Given the description of an element on the screen output the (x, y) to click on. 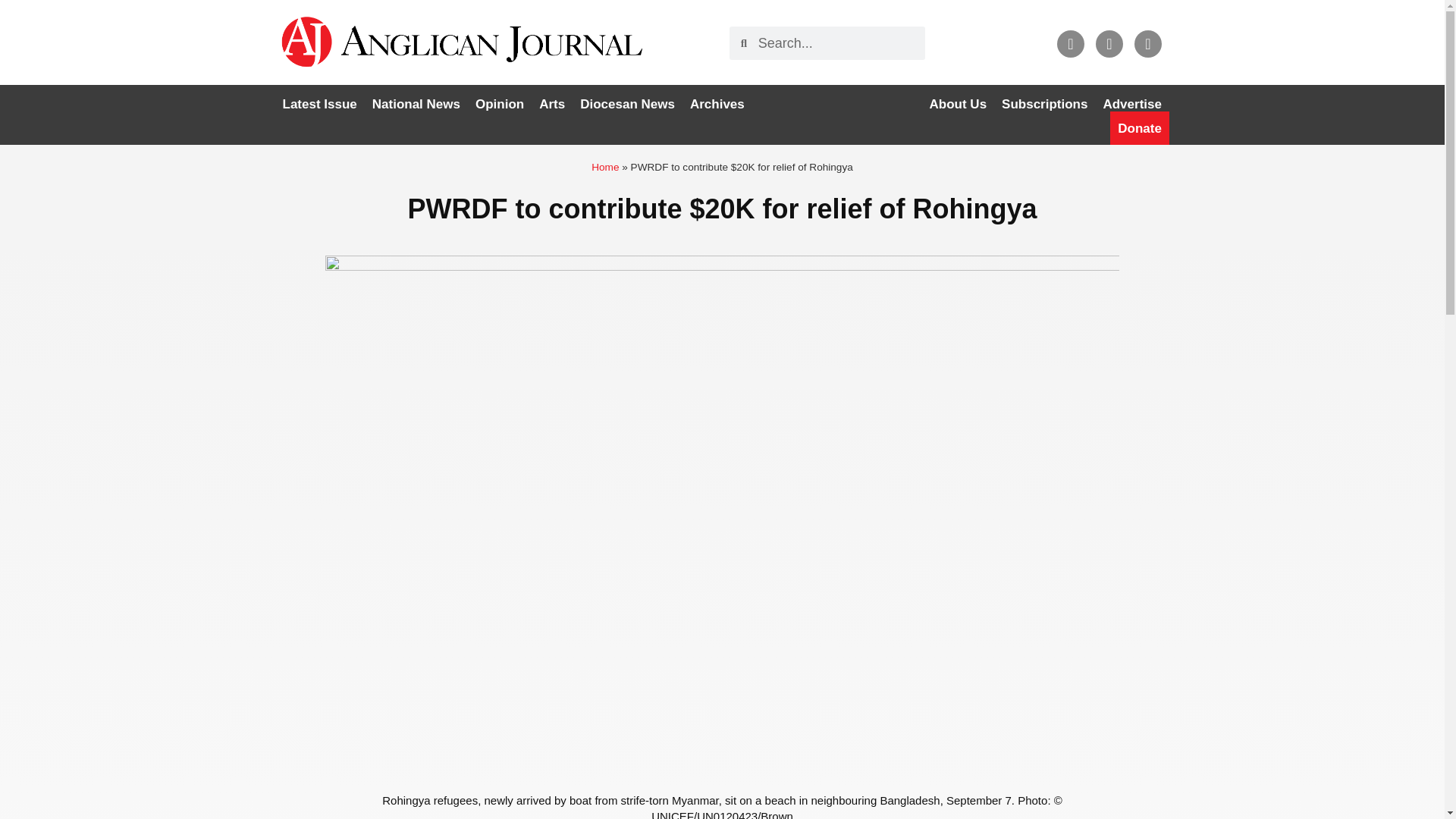
Subscriptions (1044, 104)
Opinion (499, 104)
About Us (957, 104)
Arts (551, 104)
Diocesan News (627, 104)
Latest Issue (319, 104)
Archives (717, 104)
Advertise (1131, 104)
National News (416, 104)
